Given the description of an element on the screen output the (x, y) to click on. 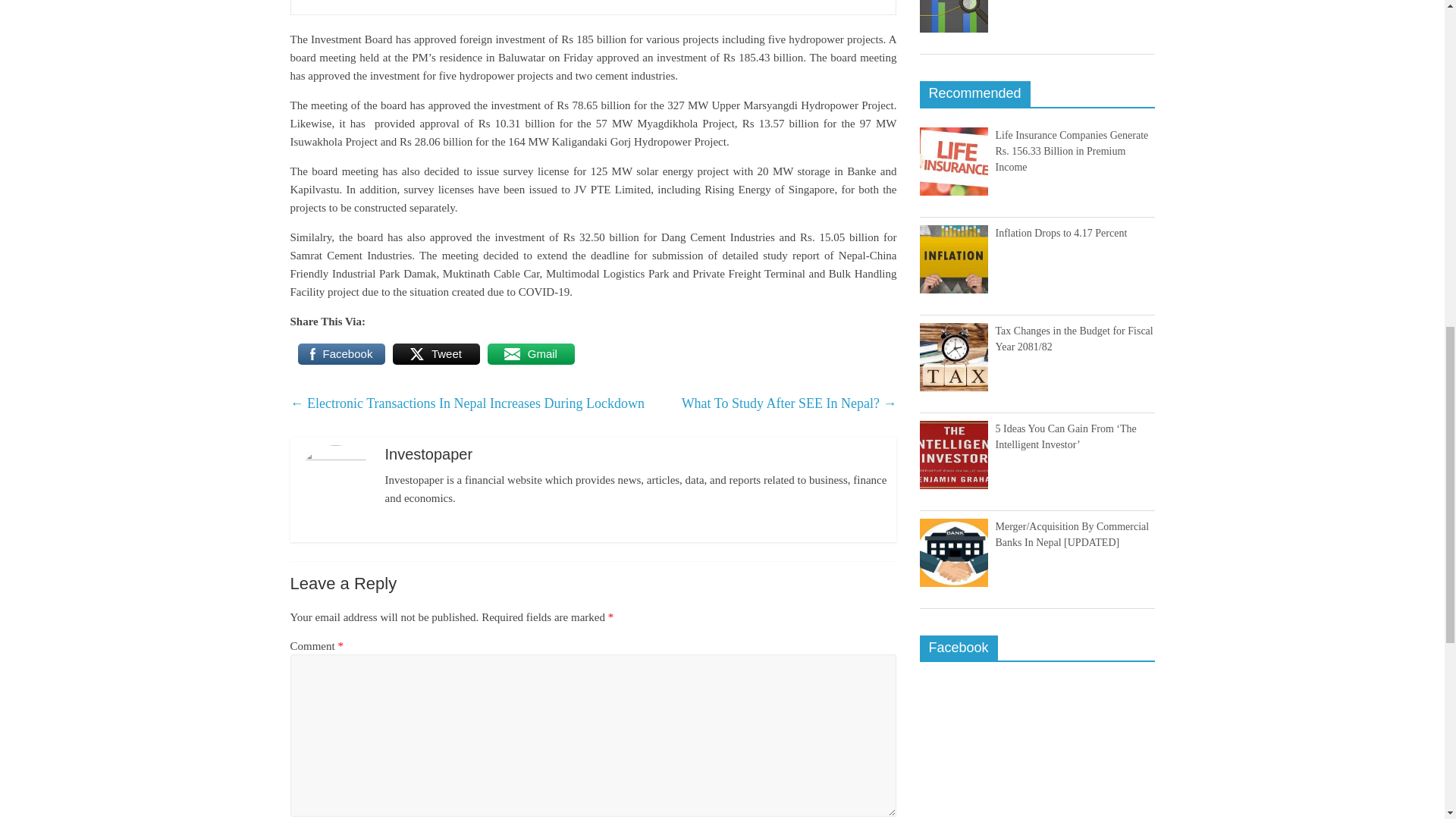
Facebook (340, 354)
Gmail (529, 354)
Tweet (436, 354)
Inflation Drops to 4.17 Percent (1060, 233)
